Given the description of an element on the screen output the (x, y) to click on. 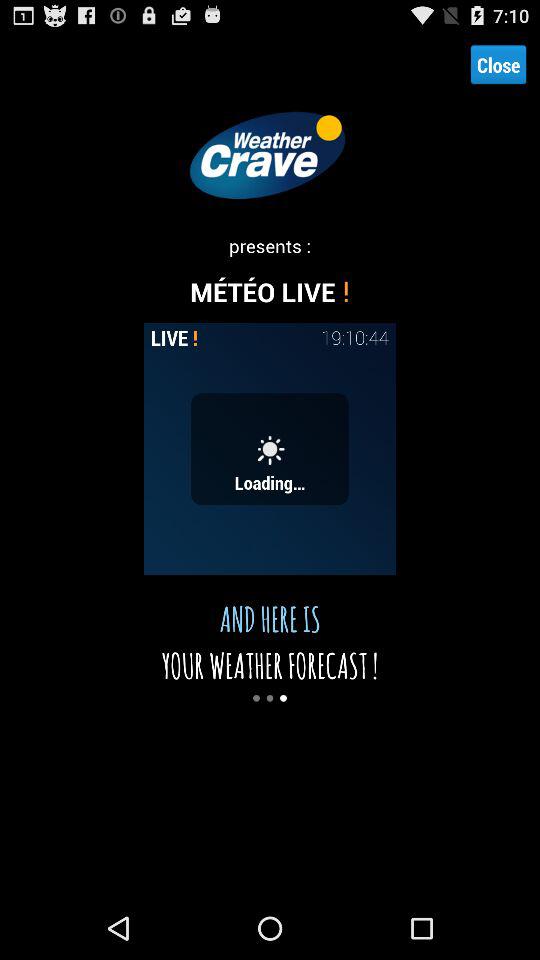
launch the close at the top right corner (498, 64)
